Given the description of an element on the screen output the (x, y) to click on. 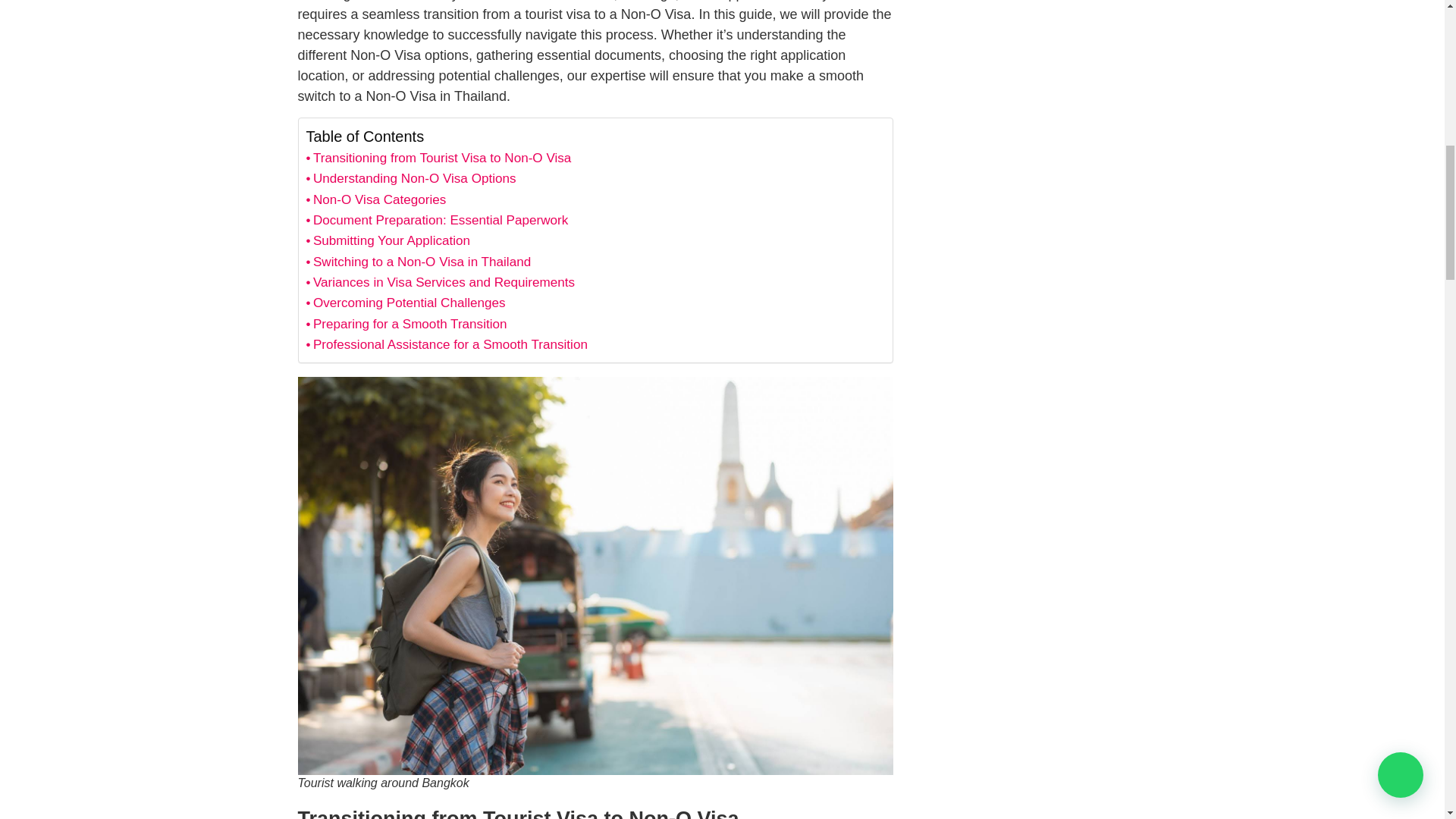
Switching to a Non-O Visa in Thailand (418, 261)
Document Preparation: Essential Paperwork (437, 219)
Professional Assistance for a Smooth Transition (446, 344)
Overcoming Potential Challenges (405, 302)
Variances in Visa Services and Requirements (440, 281)
Non-O Visa Categories (375, 199)
Understanding Non-O Visa Options (410, 178)
Submitting Your Application (387, 240)
Transitioning from Tourist Visa to Non-O Visa (438, 158)
Preparing for a Smooth Transition (405, 323)
